Given the description of an element on the screen output the (x, y) to click on. 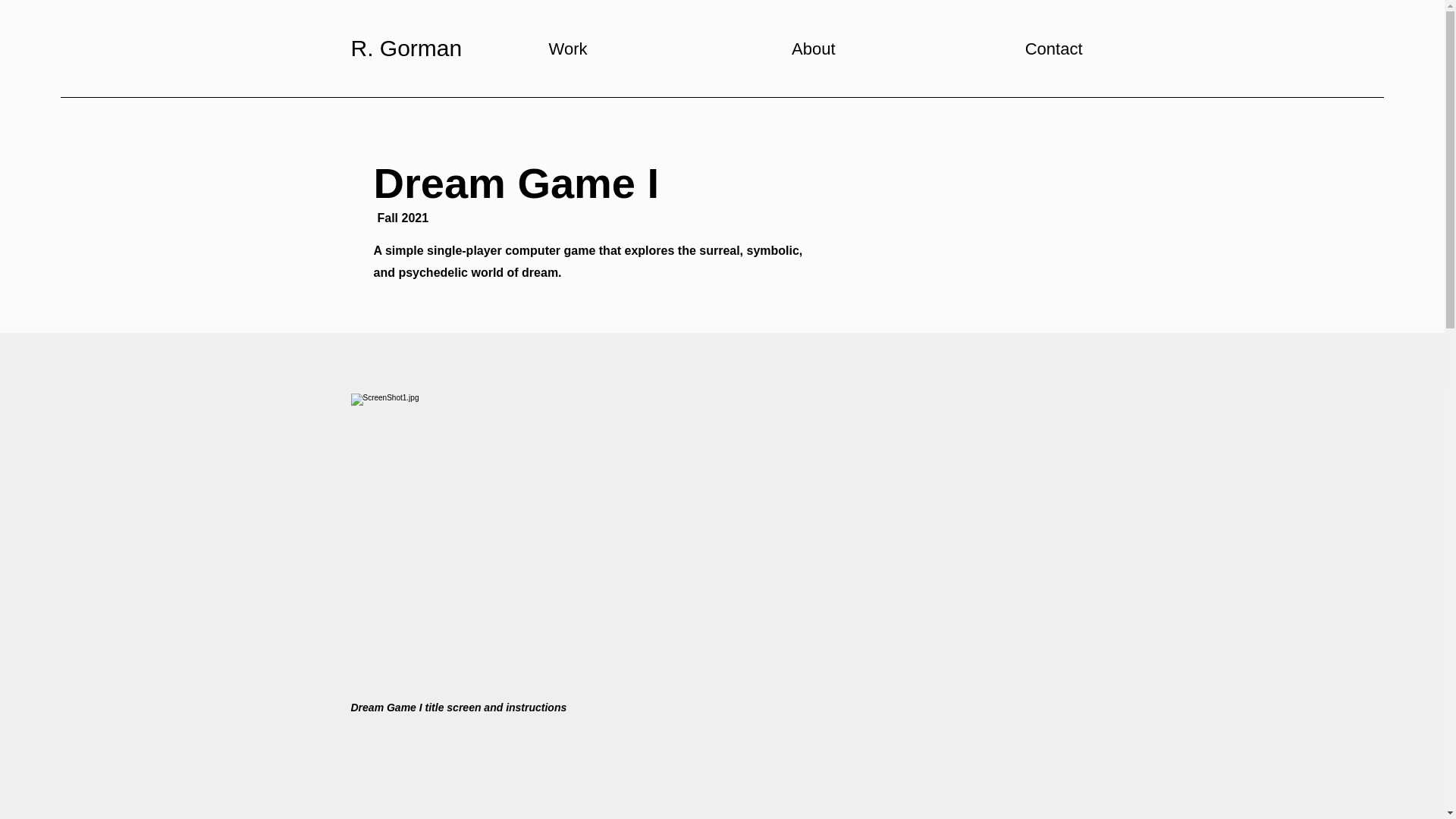
R. Gorman (405, 48)
Contact (969, 48)
Work (474, 48)
About (722, 48)
